Given the description of an element on the screen output the (x, y) to click on. 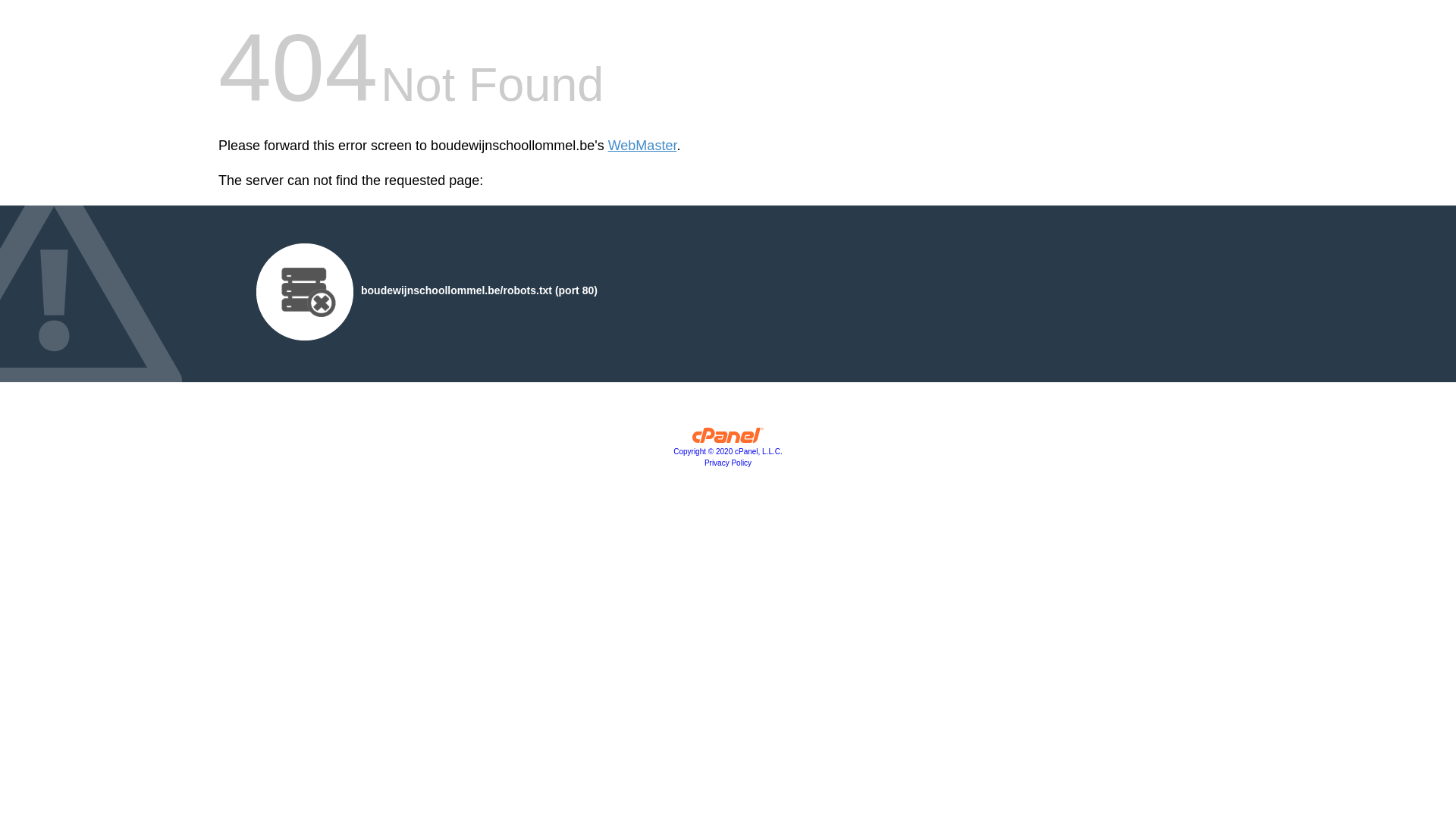
Privacy Policy Element type: text (727, 462)
cPanel, Inc. Element type: hover (728, 439)
WebMaster Element type: text (642, 145)
